Given the description of an element on the screen output the (x, y) to click on. 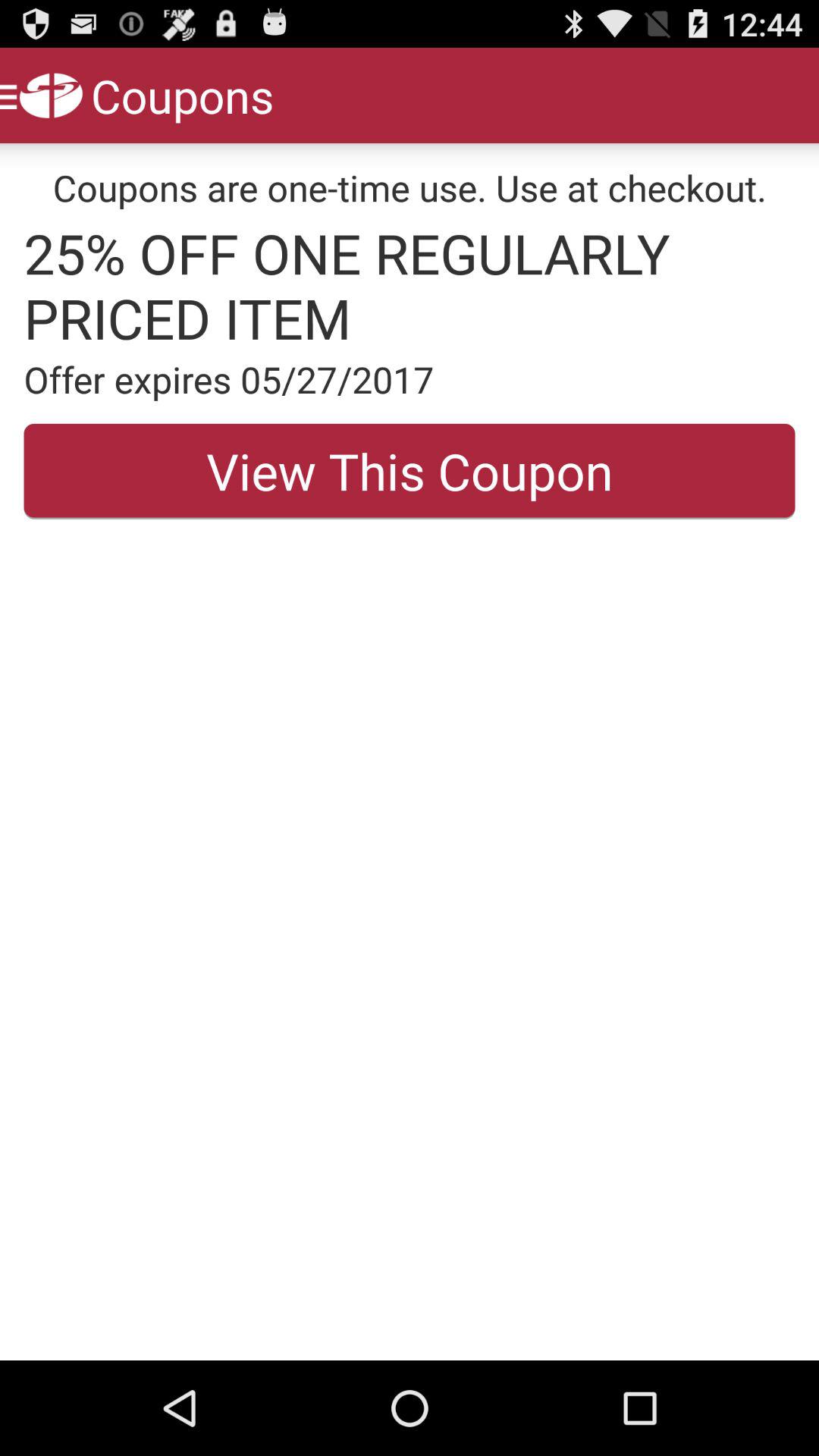
select the icon below the 25 off one icon (409, 378)
